Given the description of an element on the screen output the (x, y) to click on. 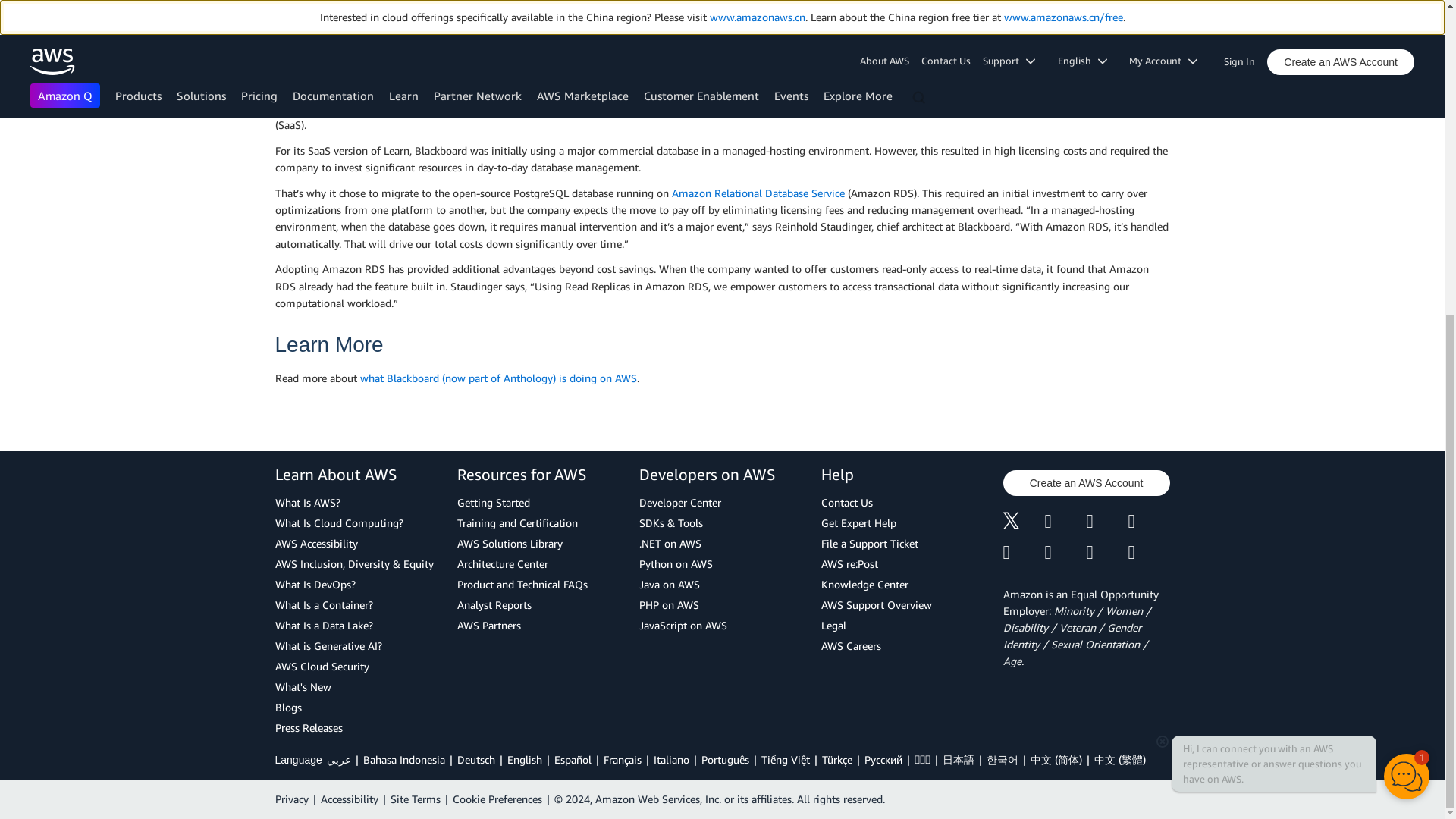
Linkedin (1106, 522)
Press Releases (358, 727)
Facebook (1065, 522)
Twitch (1023, 552)
ShotSpotter logo (722, 33)
Instagram (1149, 522)
YouTube (1065, 552)
Twitter (1023, 522)
